Given the description of an element on the screen output the (x, y) to click on. 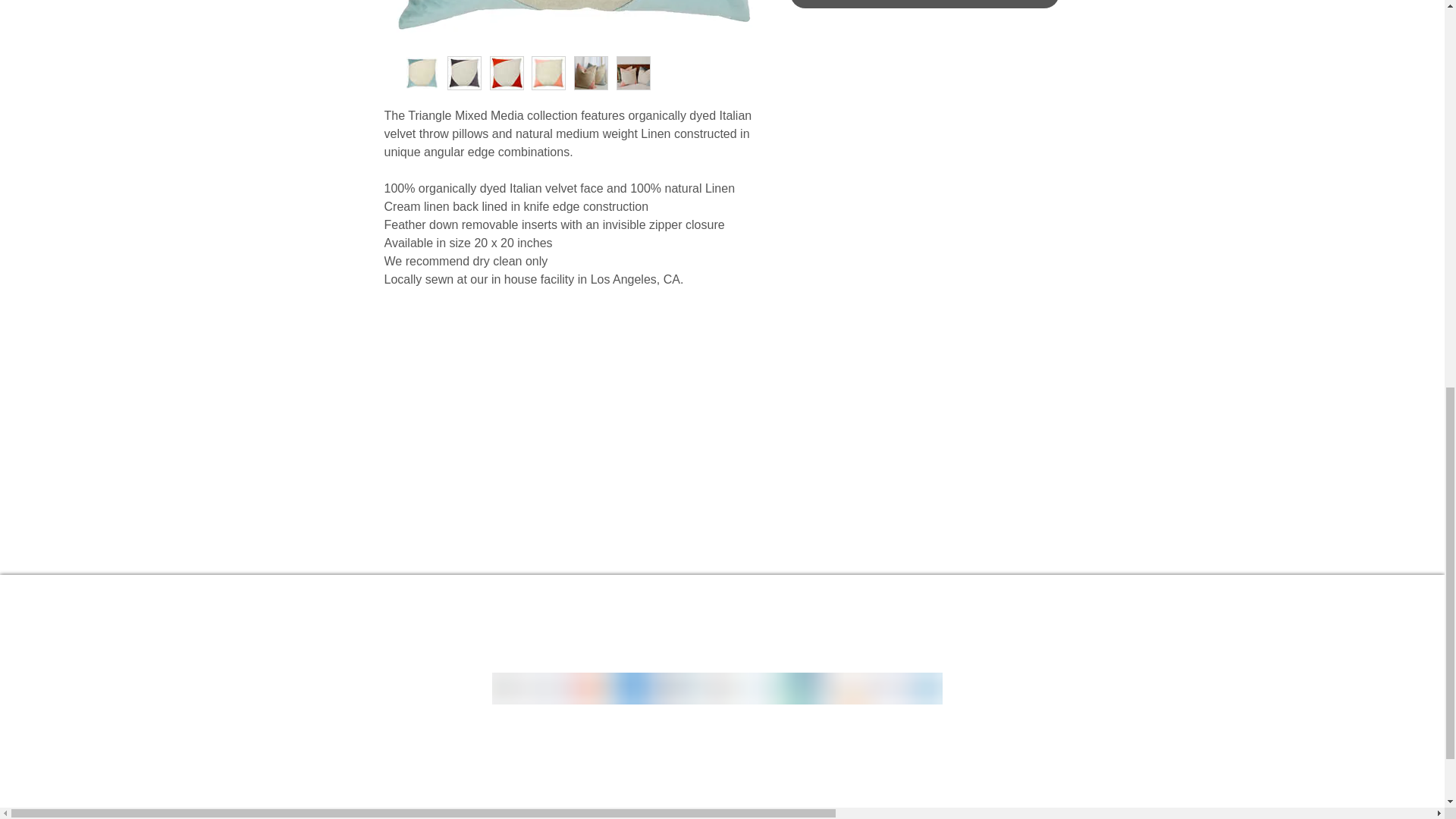
Buy Now (924, 4)
